Given the description of an element on the screen output the (x, y) to click on. 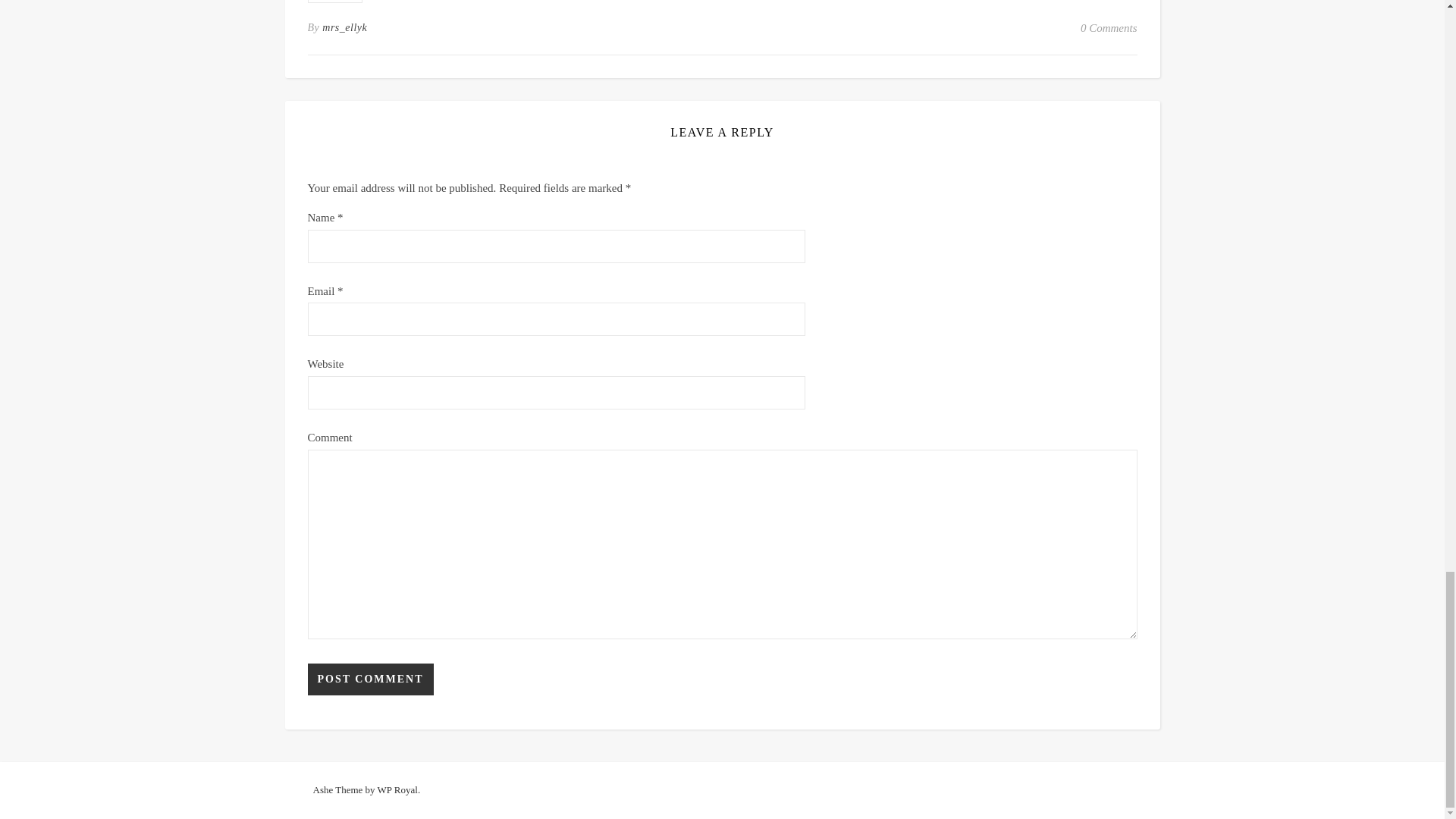
WP Royal (397, 789)
Post Comment (370, 679)
Post Comment (370, 679)
0 Comments (1108, 27)
curly hair (334, 1)
